Given the description of an element on the screen output the (x, y) to click on. 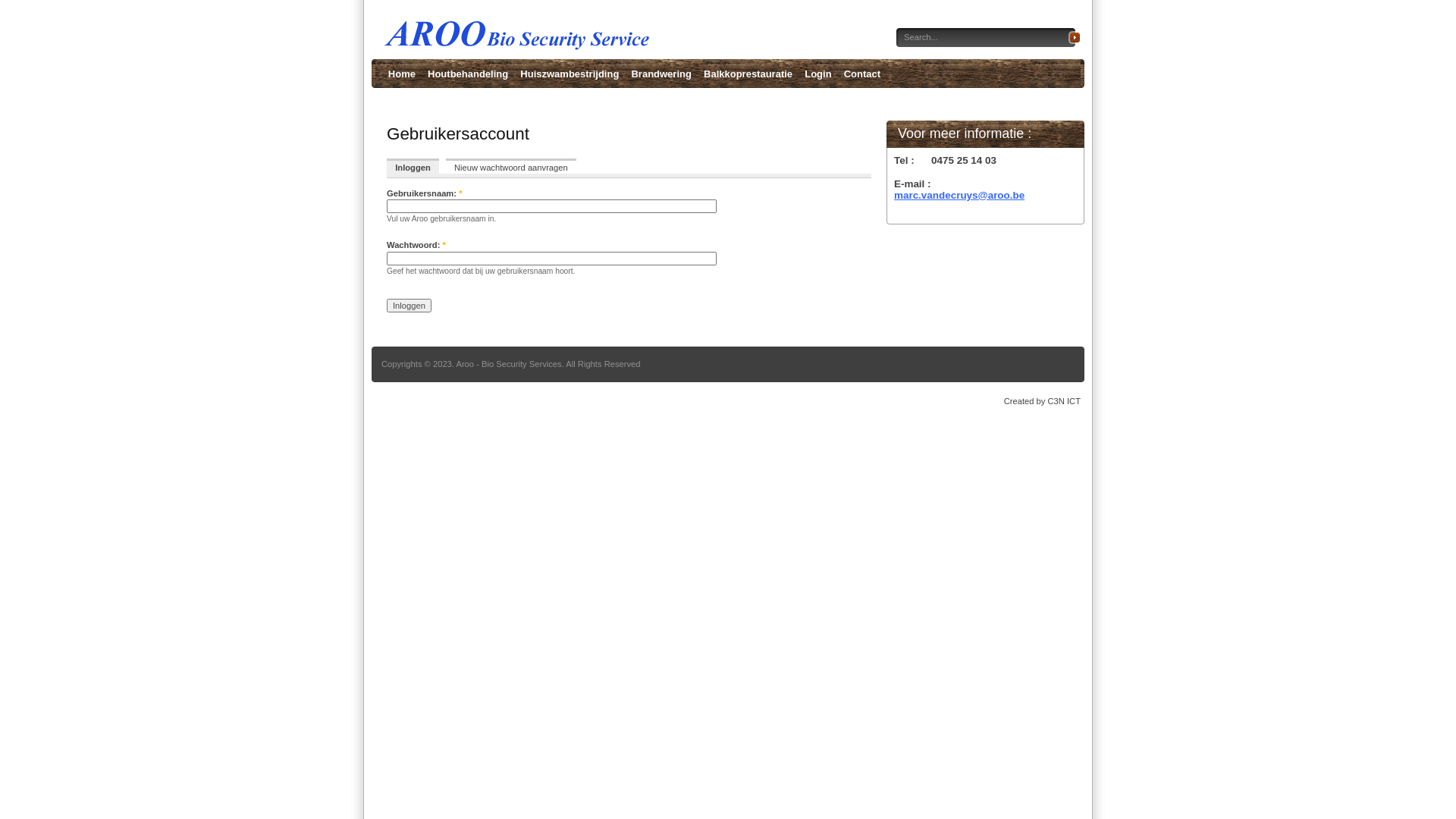
Created by C3N ICT Element type: text (1042, 400)
Houtbehandeling Element type: text (467, 73)
Contact Element type: text (862, 73)
Geef de woorden op waarnaar u wilt zoeken. Element type: hover (982, 36)
Home Element type: text (401, 73)
Huiszwambestrijding Element type: text (569, 73)
Balkkoprestauratie Element type: text (747, 73)
Nieuw wachtwoord aanvragen Element type: text (510, 167)
marc.vandecruys@aroo.be Element type: text (959, 194)
Inloggen Element type: text (408, 305)
Brandwering Element type: text (660, 73)
Inloggen Element type: text (412, 167)
Login Element type: text (817, 73)
